Given the description of an element on the screen output the (x, y) to click on. 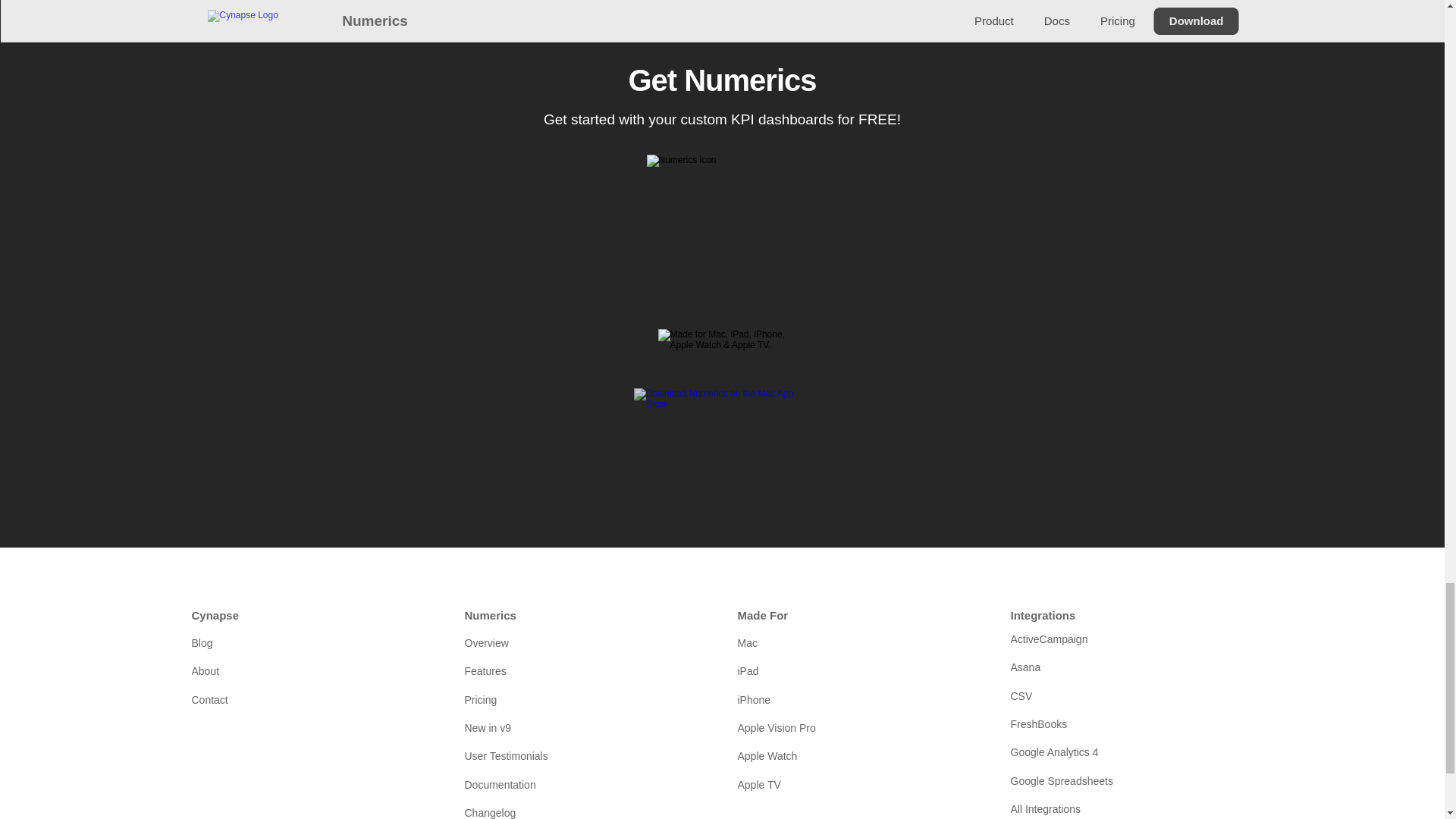
About (311, 671)
Pricing (585, 699)
Apple Vision Pro (857, 727)
Apple TV (857, 784)
Apple Watch (857, 755)
iPad (857, 671)
Blog (311, 642)
Documentation (585, 784)
Mac (857, 642)
New in v9 (585, 727)
iPhone (857, 699)
Contact (311, 699)
ActiveCampaign (1131, 639)
Changelog (585, 809)
Features (585, 671)
